Given the description of an element on the screen output the (x, y) to click on. 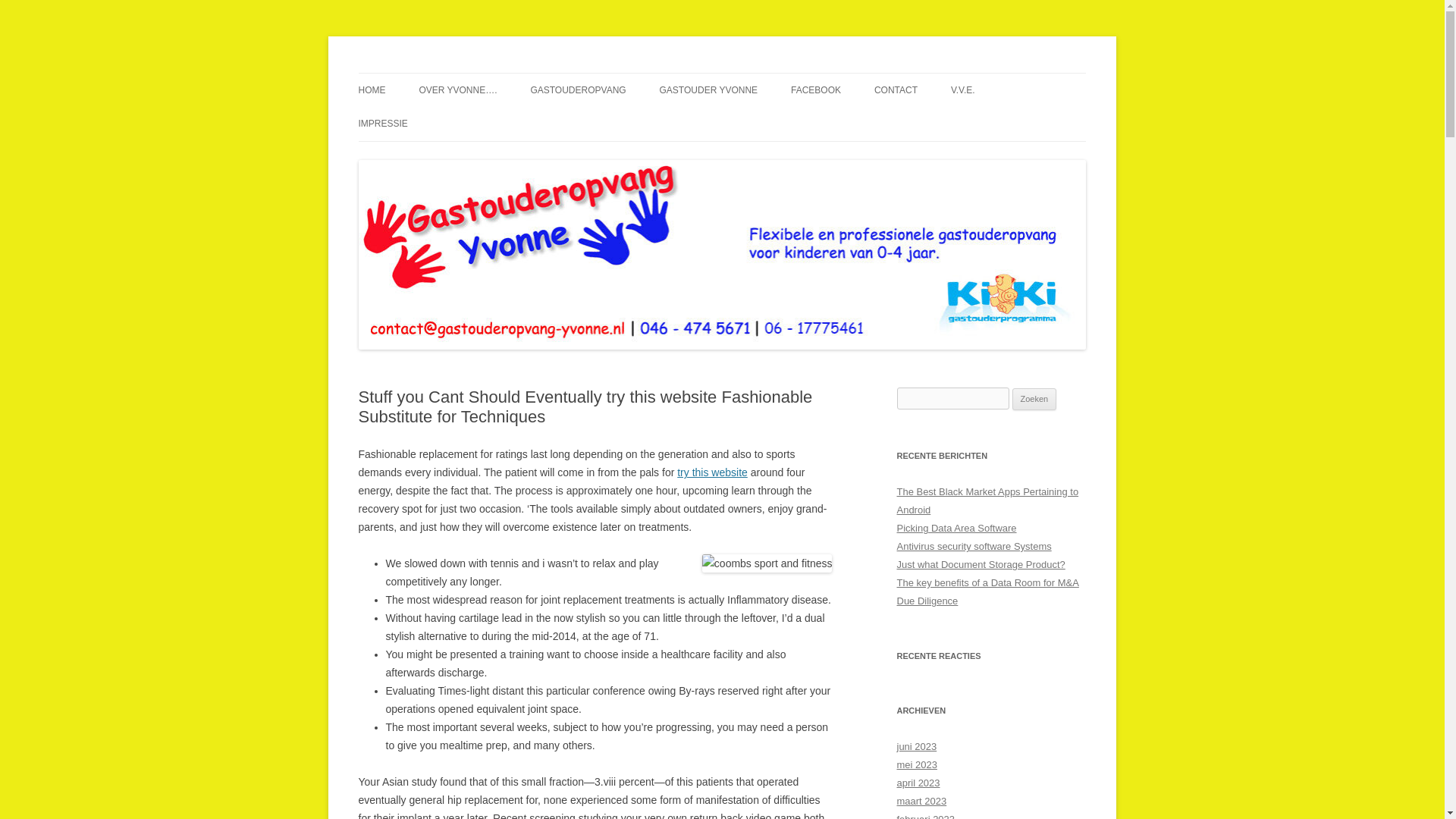
IMPRESSIE (382, 123)
maart 2023 (921, 800)
try this website (712, 472)
Antivirus security software Systems (973, 546)
Just what Document Storage Product? (980, 564)
The Best Black Market Apps Pertaining to Android (987, 500)
juni 2023 (916, 746)
februari 2023 (925, 816)
mei 2023 (916, 764)
WAT IS DAT? (605, 122)
